Given the description of an element on the screen output the (x, y) to click on. 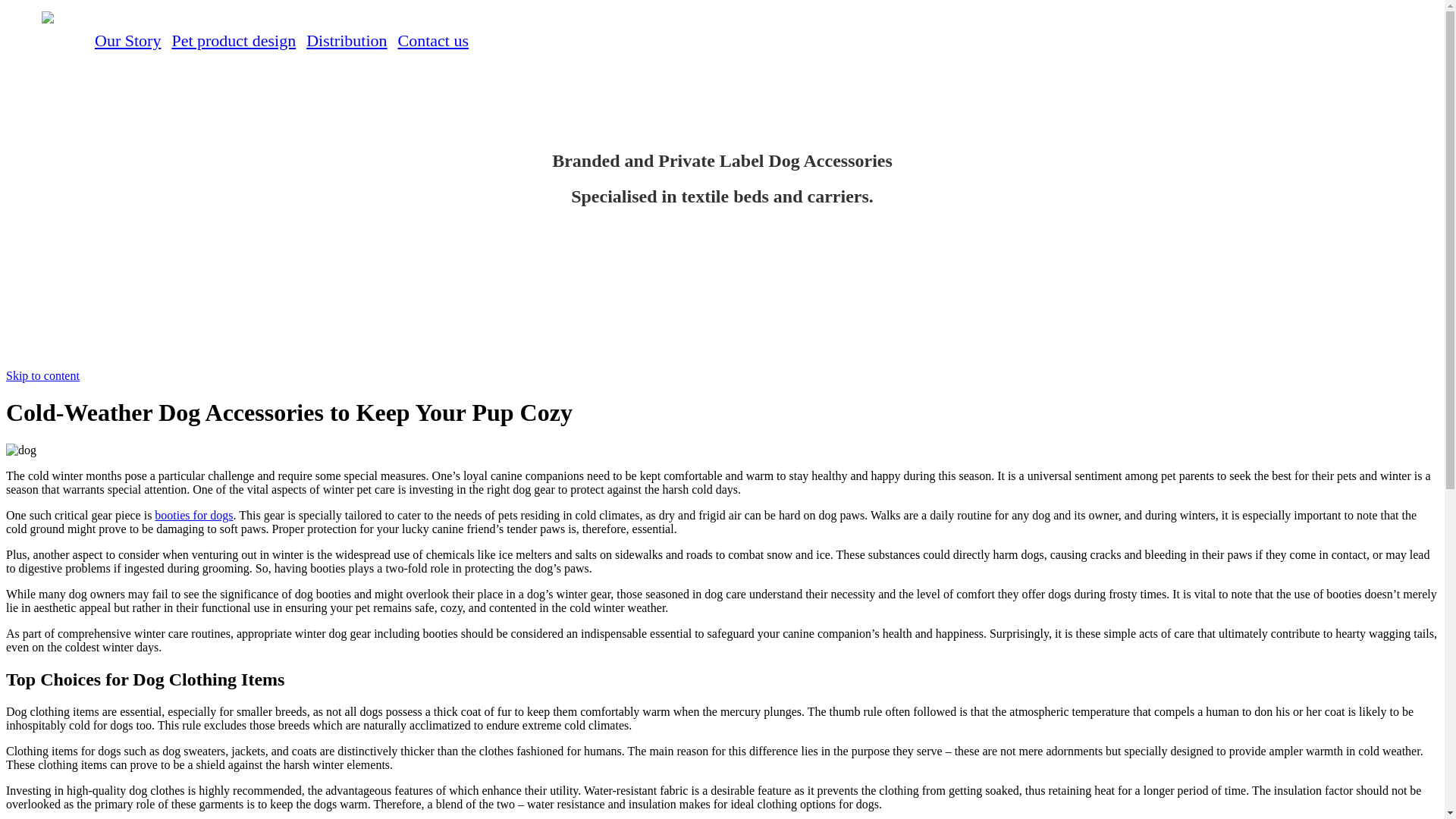
Distribution (346, 40)
Our Story (127, 40)
booties for dogs (193, 514)
Skip to content (42, 375)
Contact us (432, 40)
Pet product design (233, 40)
